Given the description of an element on the screen output the (x, y) to click on. 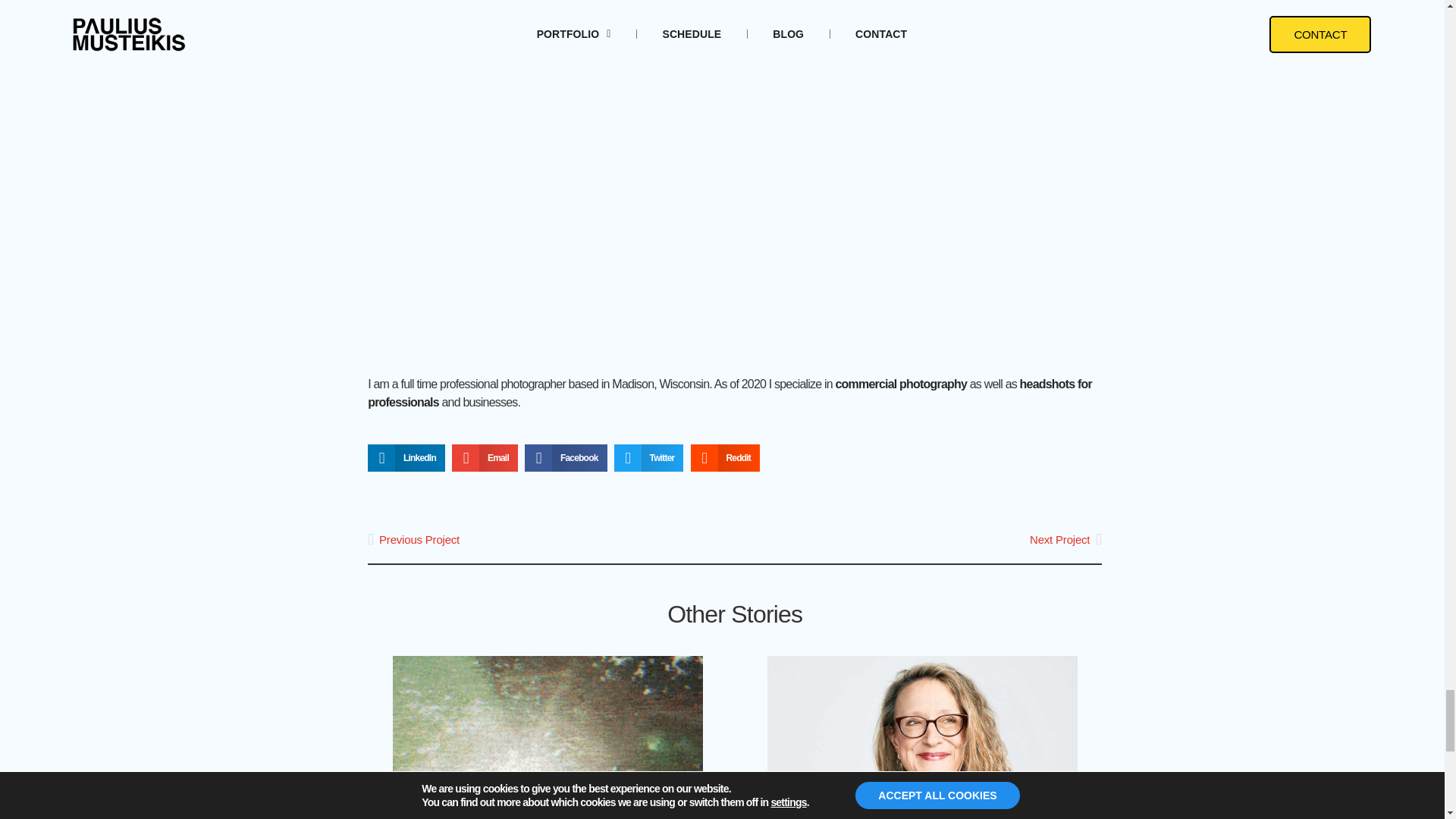
commercial photography (900, 383)
